Given the description of an element on the screen output the (x, y) to click on. 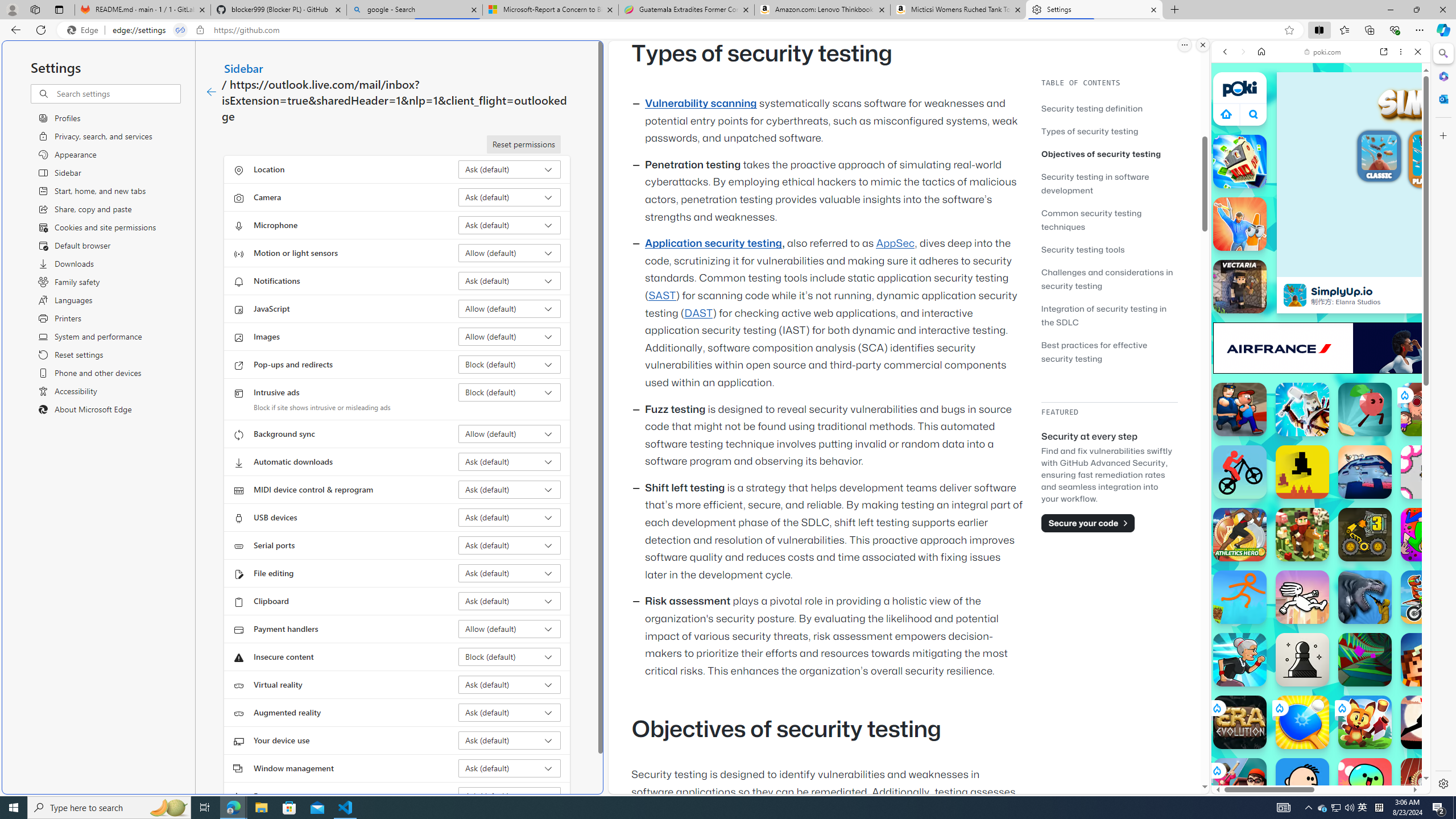
Lurkers.io Lurkers.io (1427, 659)
Stickman Bike (1239, 471)
Fonts Ask (default) (509, 796)
Background sync Allow (default) (509, 434)
Car Games (1320, 267)
Show More Io Games (1390, 351)
Vectaria.io (1239, 286)
Athletics Hero (1239, 534)
Sports Games (1320, 379)
Two Player Games (1320, 323)
Ping Pong Go! Ping Pong Go! (1302, 722)
CLASSIC (1378, 157)
